Given the description of an element on the screen output the (x, y) to click on. 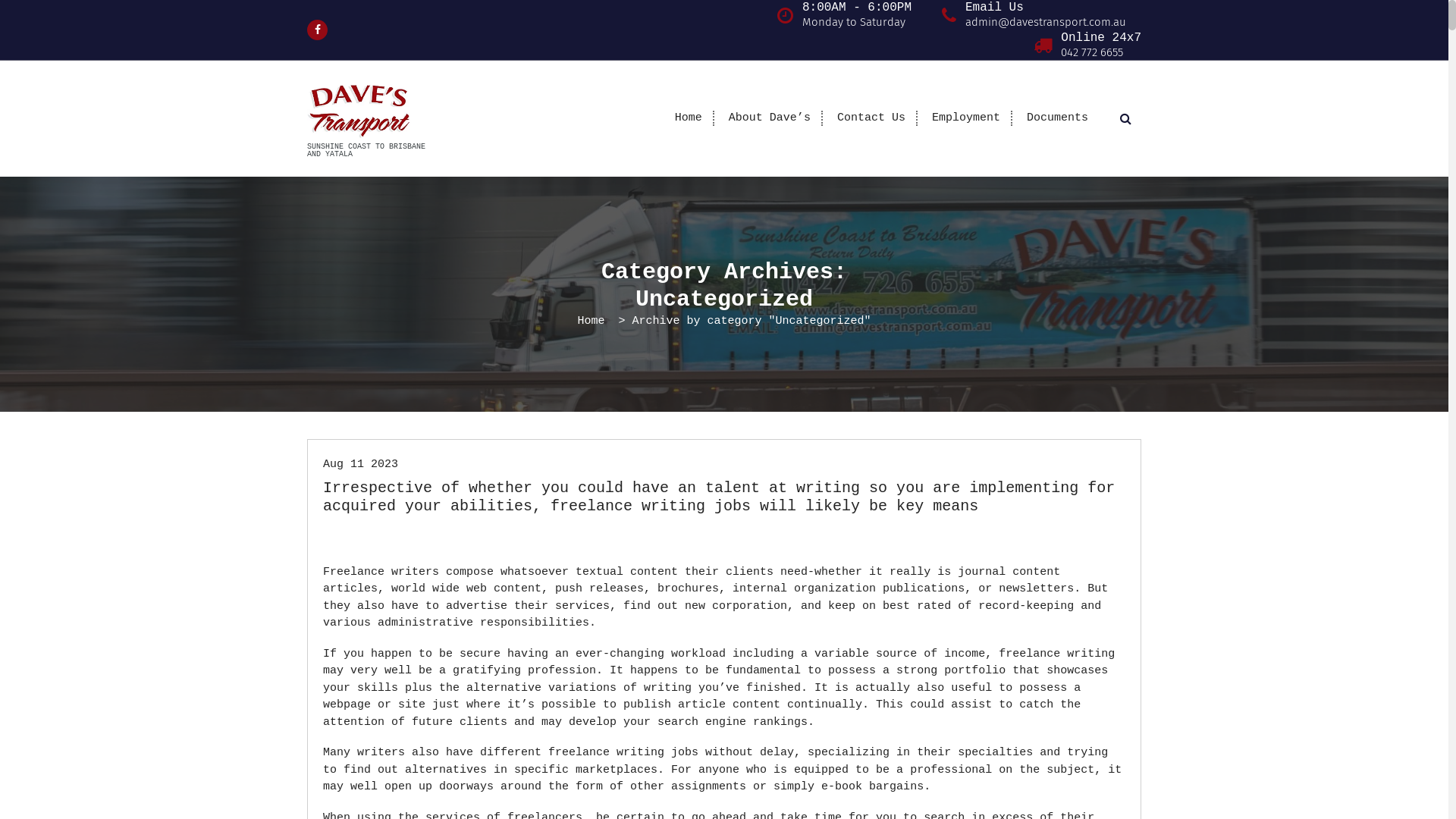
Home Element type: text (590, 320)
Home Element type: text (688, 117)
Employment Element type: text (965, 117)
Aug 11 2023 Element type: text (360, 464)
Contact Us Element type: text (871, 117)
Documents Element type: text (1057, 117)
Online 24x7
042 772 6655 Element type: text (1100, 45)
Email Us
admin@davestransport.com.au Element type: text (1045, 14)
8:00AM - 6:00PM
Monday to Saturday Element type: text (856, 14)
